Given the description of an element on the screen output the (x, y) to click on. 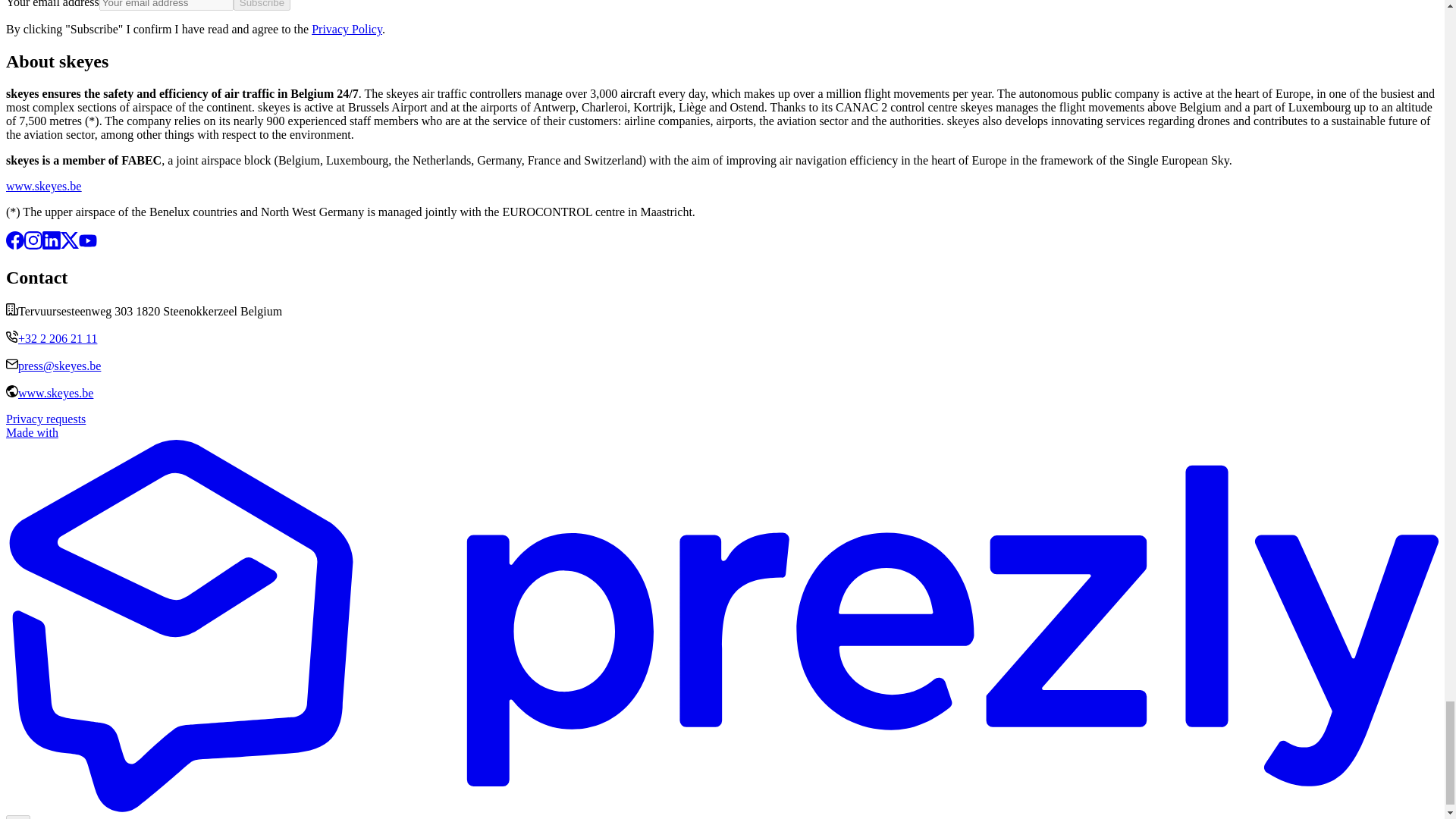
X (69, 245)
Youtube (87, 245)
Subscribe (260, 5)
LinkedIn (51, 245)
Privacy Policy (346, 29)
www.skeyes.be (43, 185)
Facebook (14, 245)
Instagram (33, 245)
